Given the description of an element on the screen output the (x, y) to click on. 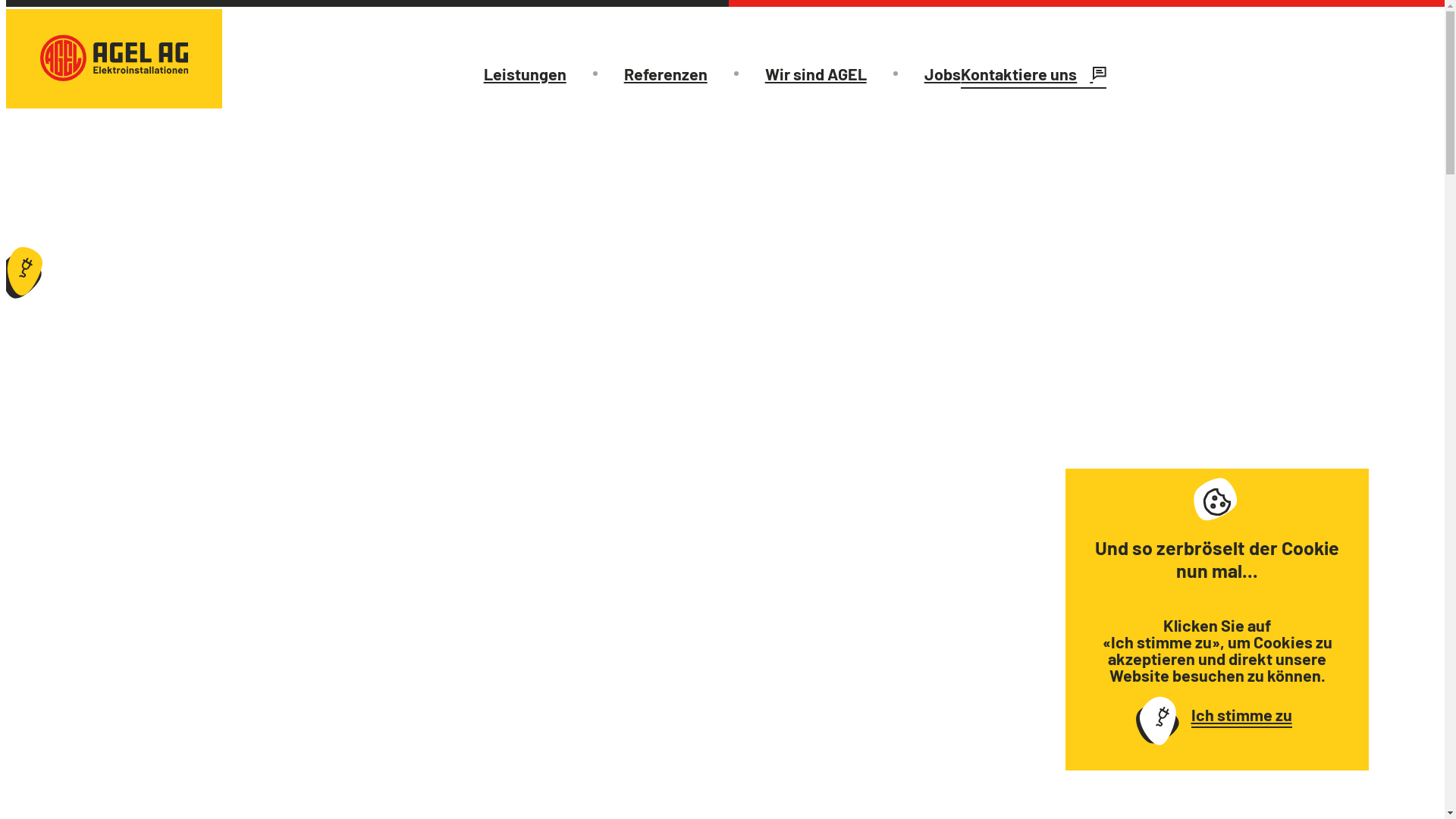
Wir sind AGEL Element type: text (815, 73)
Ich stimme zu Element type: text (1216, 716)
Leistungen Element type: text (524, 73)
Referenzen Element type: text (665, 73)
Kontaktiere uns Element type: text (1033, 75)
Jobs Element type: text (942, 73)
